Given the description of an element on the screen output the (x, y) to click on. 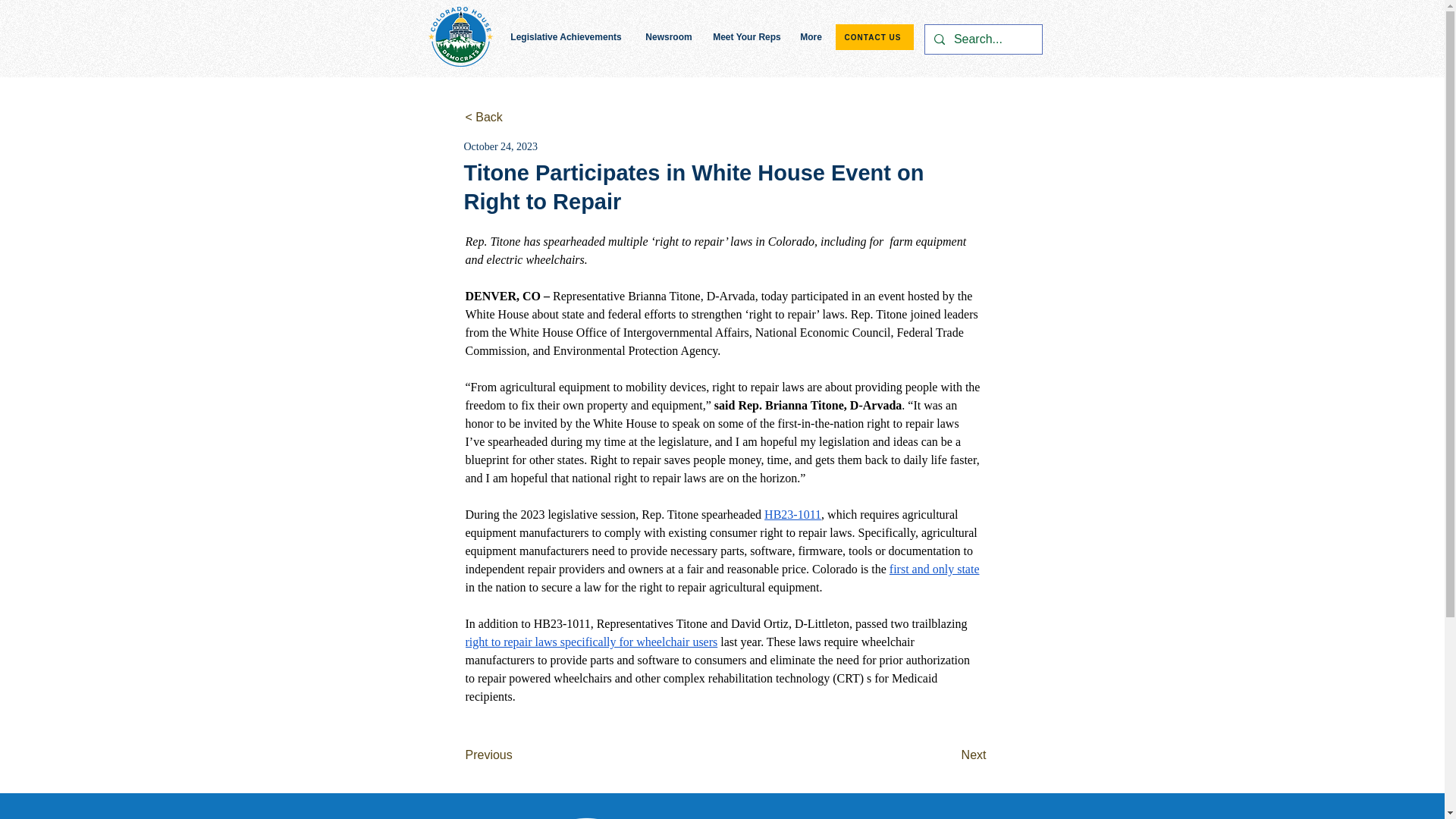
HB23-1011 (792, 513)
Newsroom (668, 37)
Meet Your Reps (745, 37)
right to repair laws specifically for wheelchair users (591, 641)
Previous (515, 755)
Legislative Achievements (565, 37)
CONTACT US (874, 36)
Next (947, 755)
first and only state (934, 568)
